Given the description of an element on the screen output the (x, y) to click on. 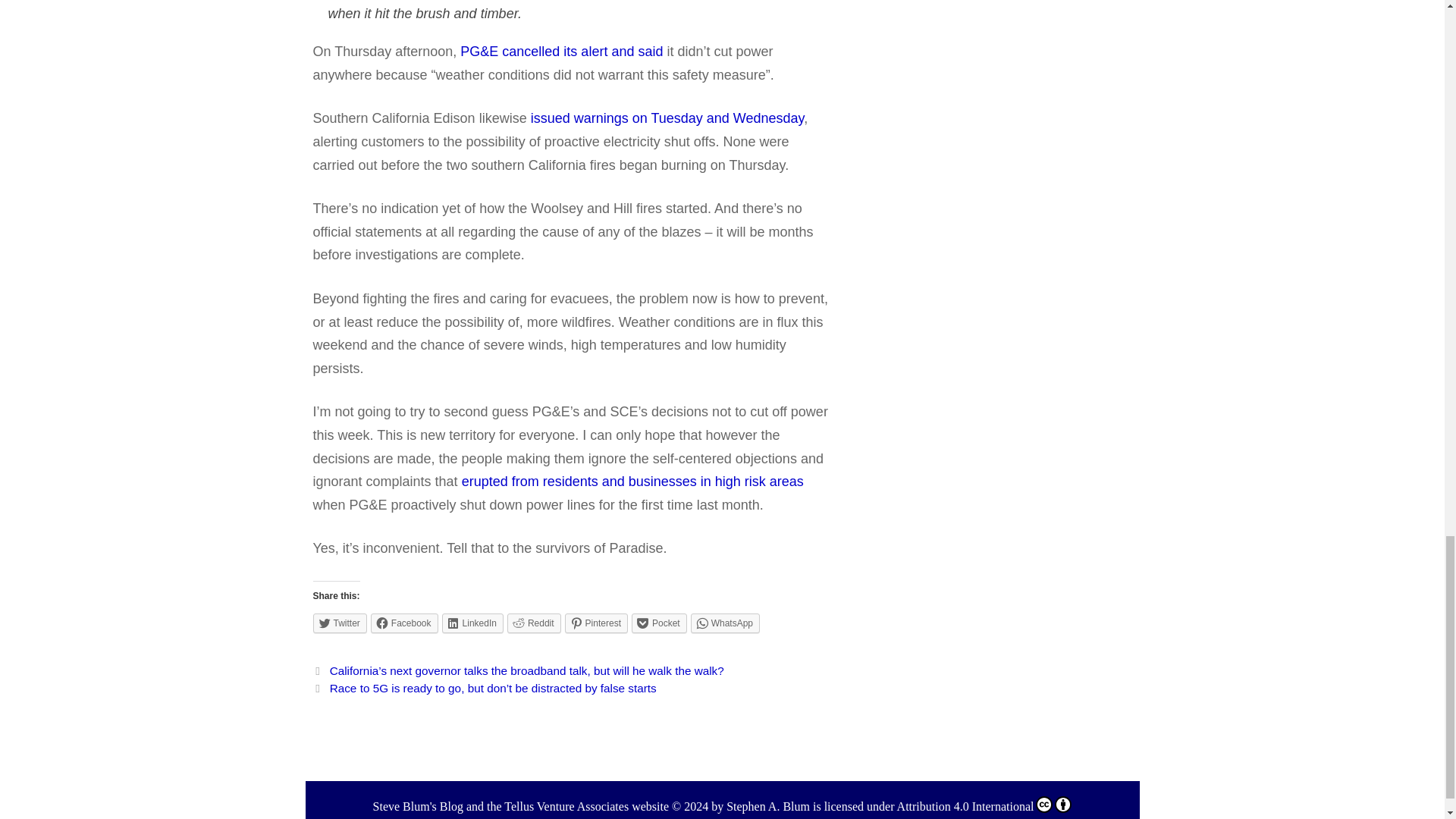
Next (484, 687)
Click to share on WhatsApp (725, 623)
Previous (518, 670)
Click to share on Pocket (659, 623)
Click to share on LinkedIn (472, 623)
Click to share on Facebook (404, 623)
Click to share on Pinterest (595, 623)
Click to share on Reddit (533, 623)
Click to share on Twitter (339, 623)
